Given the description of an element on the screen output the (x, y) to click on. 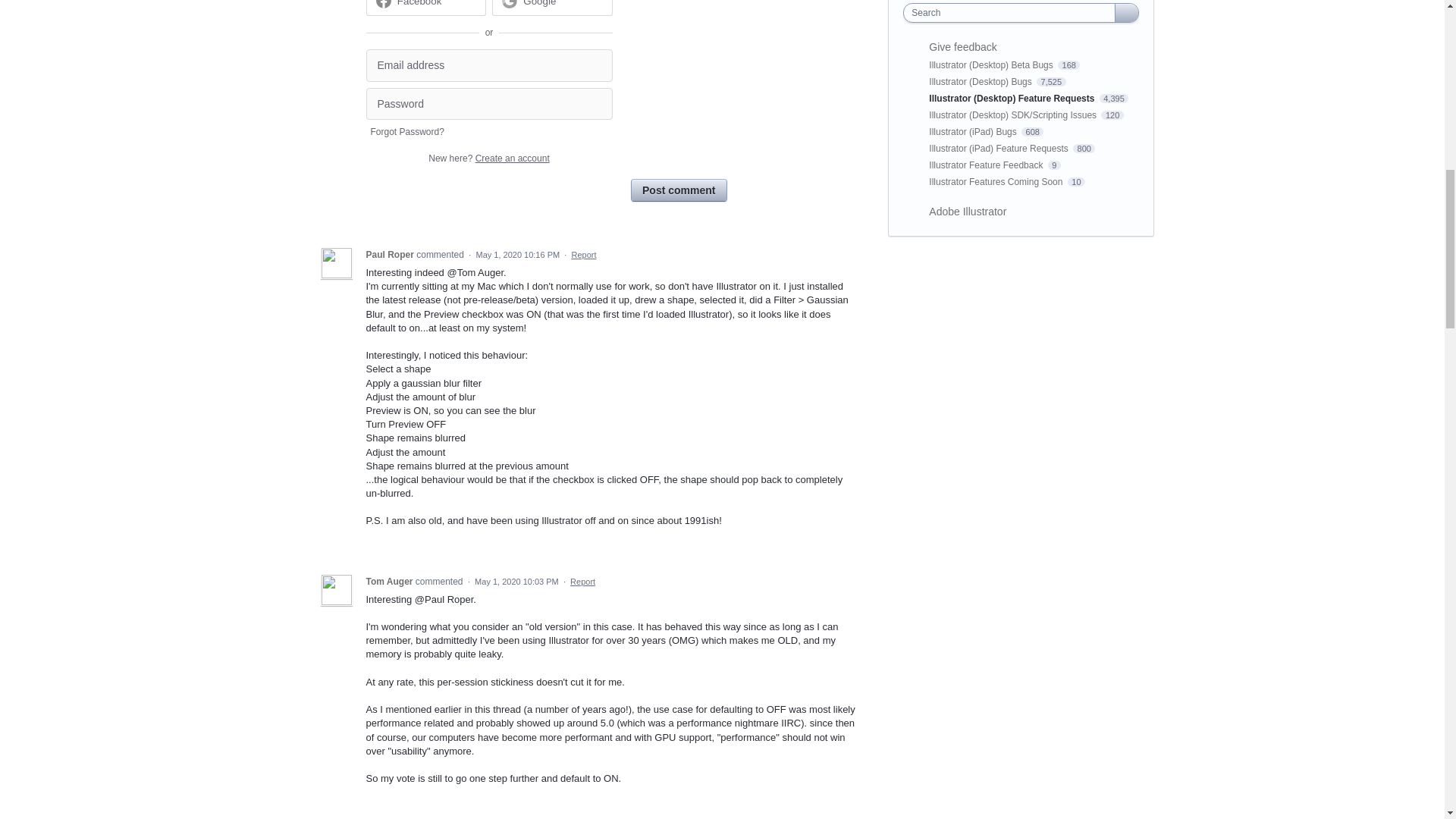
Google sign in (552, 7)
Facebook sign in (425, 7)
Google (539, 3)
Facebook (419, 3)
